Given the description of an element on the screen output the (x, y) to click on. 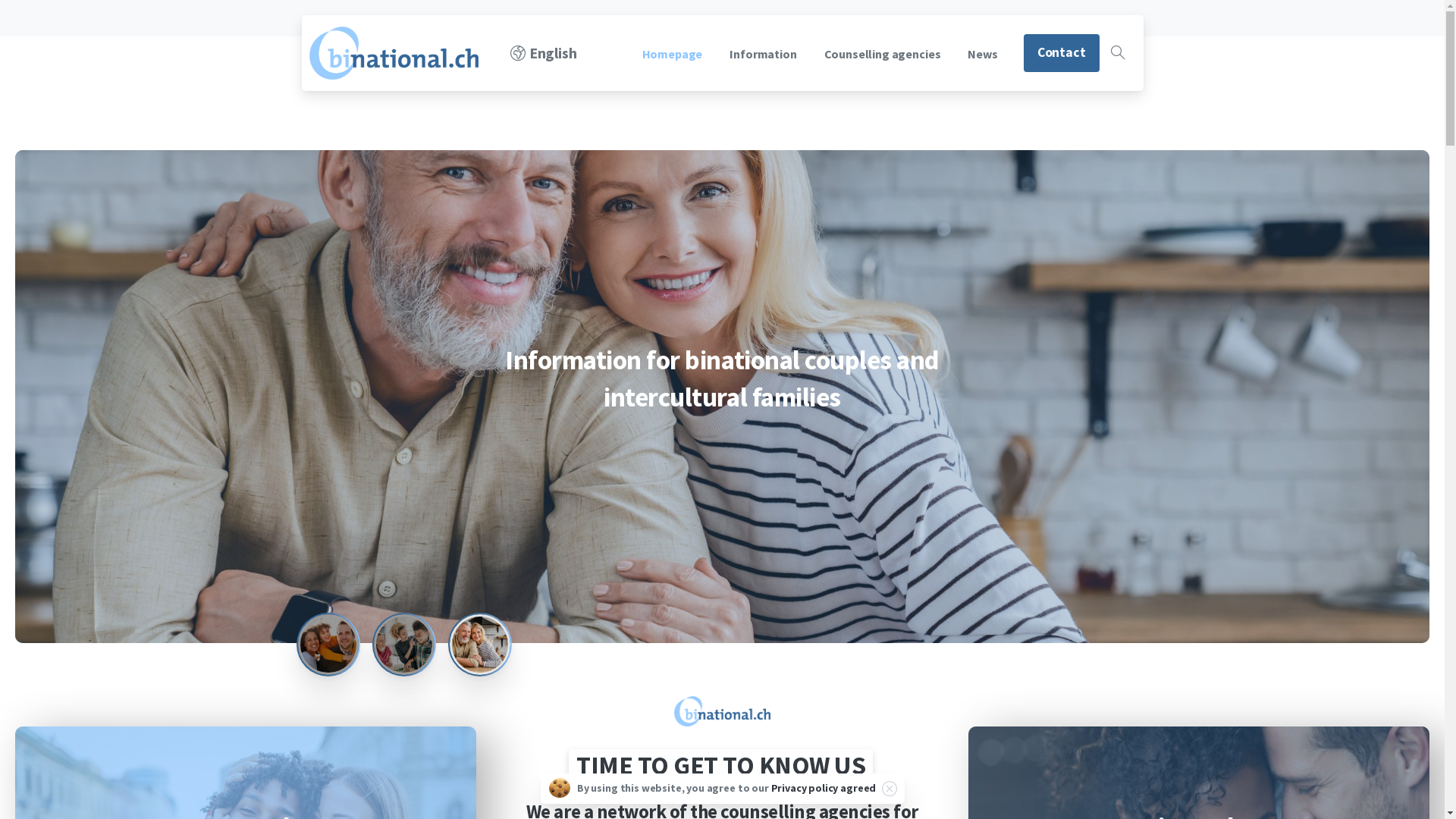
English Element type: text (543, 52)
Homepage Element type: text (672, 52)
Privacy policy agreed Element type: text (822, 787)
News Element type: text (982, 52)
Counselling agencies Element type: text (882, 52)
Information Element type: text (762, 52)
Contact Element type: text (1061, 53)
